Given the description of an element on the screen output the (x, y) to click on. 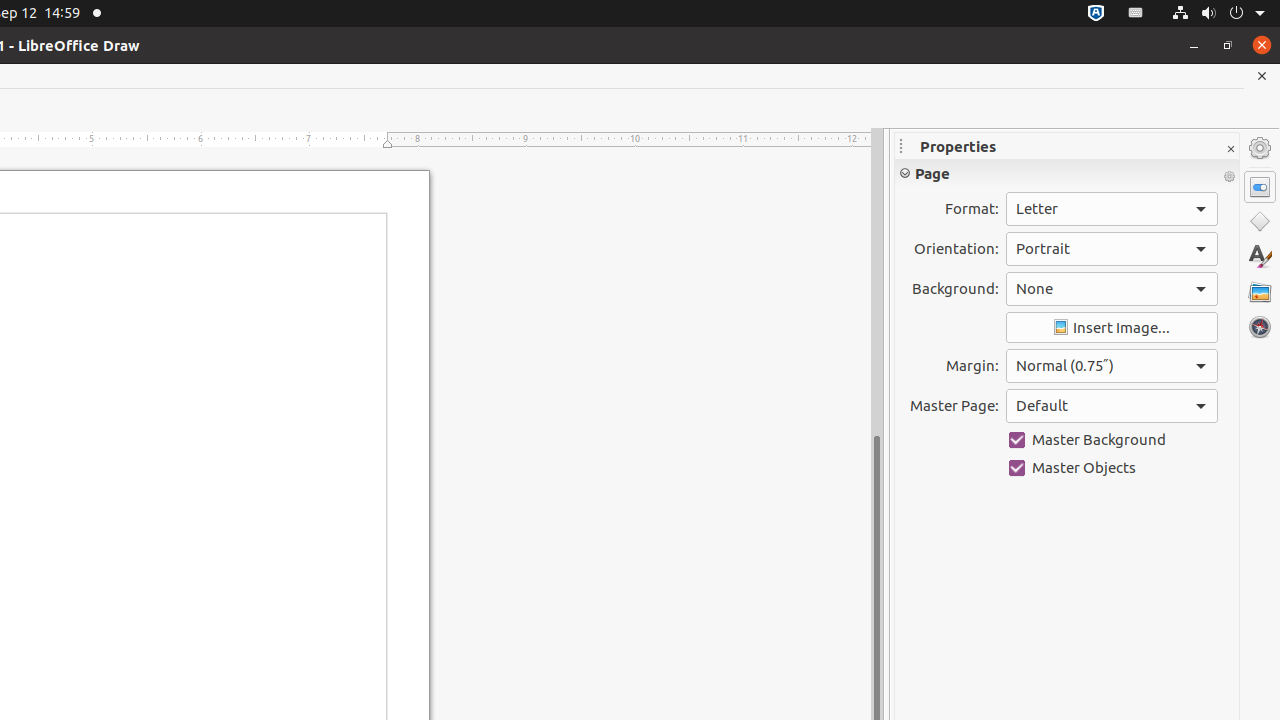
Orientation: Element type: combo-box (1112, 249)
Shapes Element type: radio-button (1260, 222)
Margin: Element type: combo-box (1112, 366)
:1.72/StatusNotifierItem Element type: menu (1096, 13)
Master Objects Element type: check-box (1112, 468)
